Given the description of an element on the screen output the (x, y) to click on. 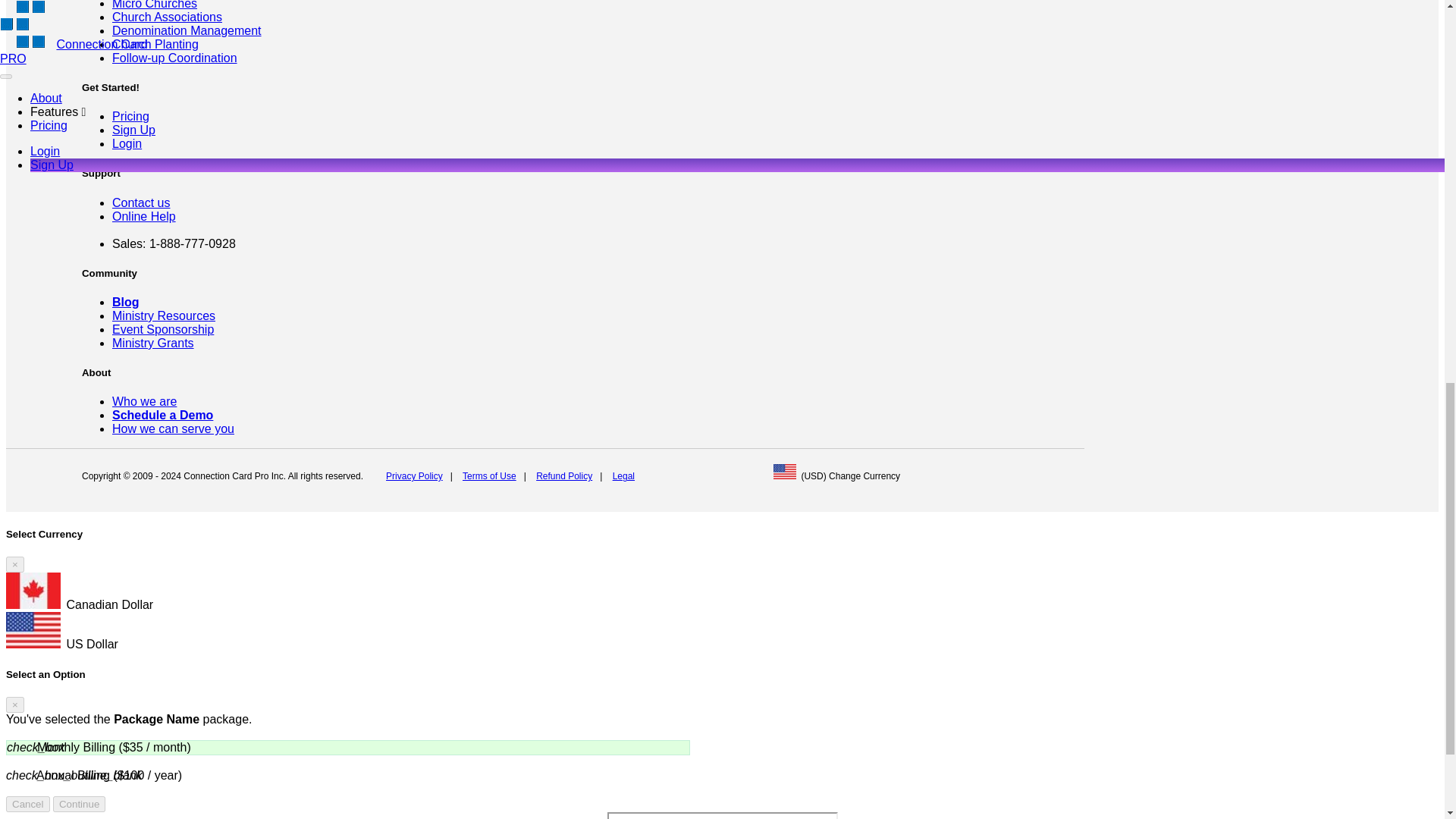
Church Planting (155, 43)
Church Associations (167, 16)
Micro Churches (154, 4)
Denomination Management (187, 30)
